Given the description of an element on the screen output the (x, y) to click on. 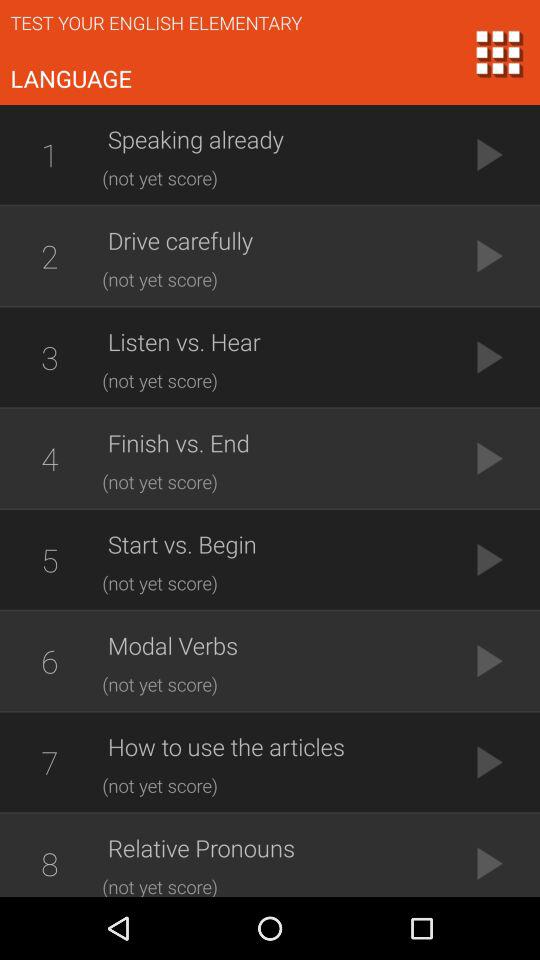
jump to the  relative pronouns item (275, 847)
